Given the description of an element on the screen output the (x, y) to click on. 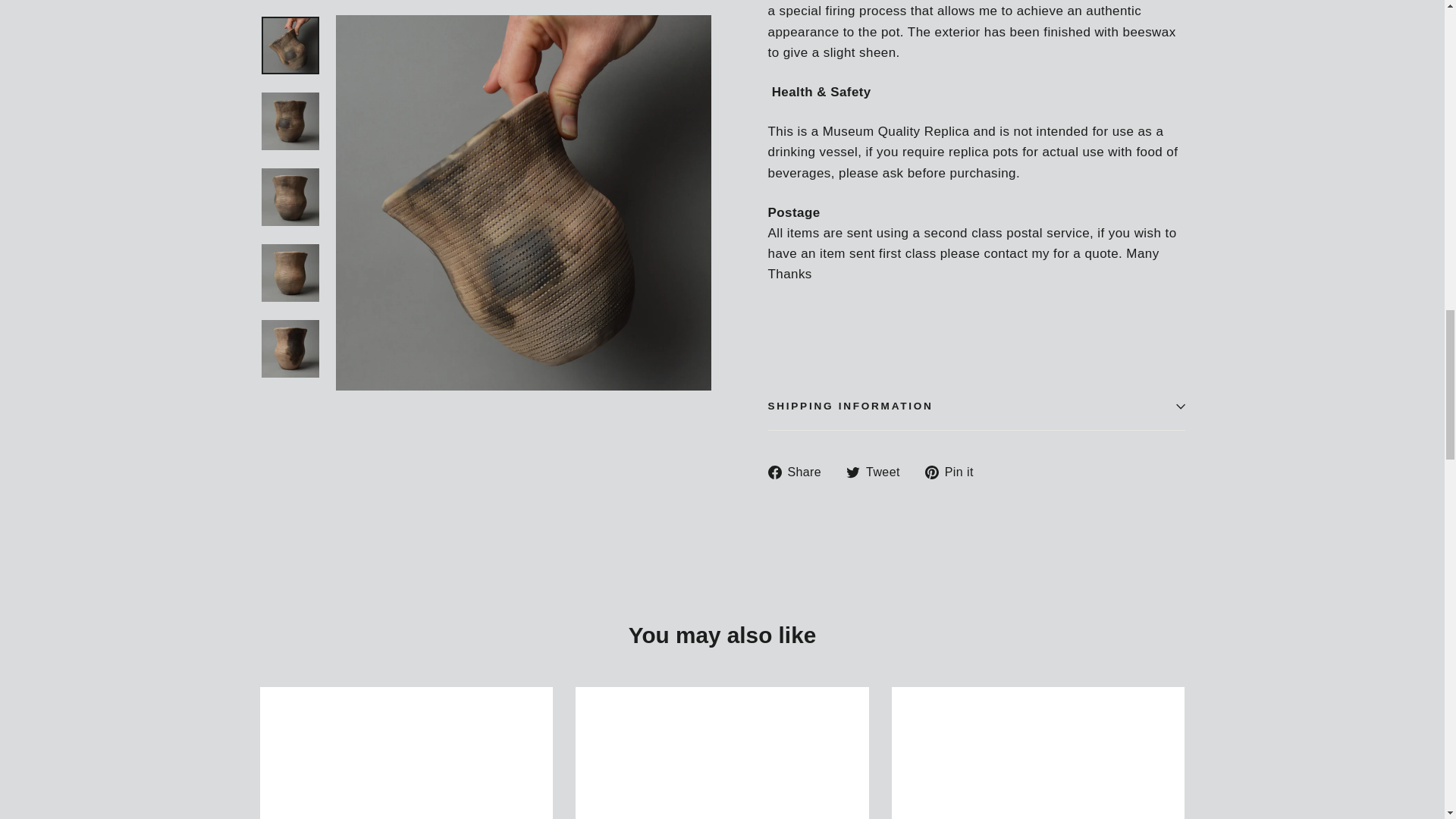
Share on Facebook (799, 471)
twitter (852, 472)
Pin on Pinterest (954, 471)
Tweet on Twitter (878, 471)
